Given the description of an element on the screen output the (x, y) to click on. 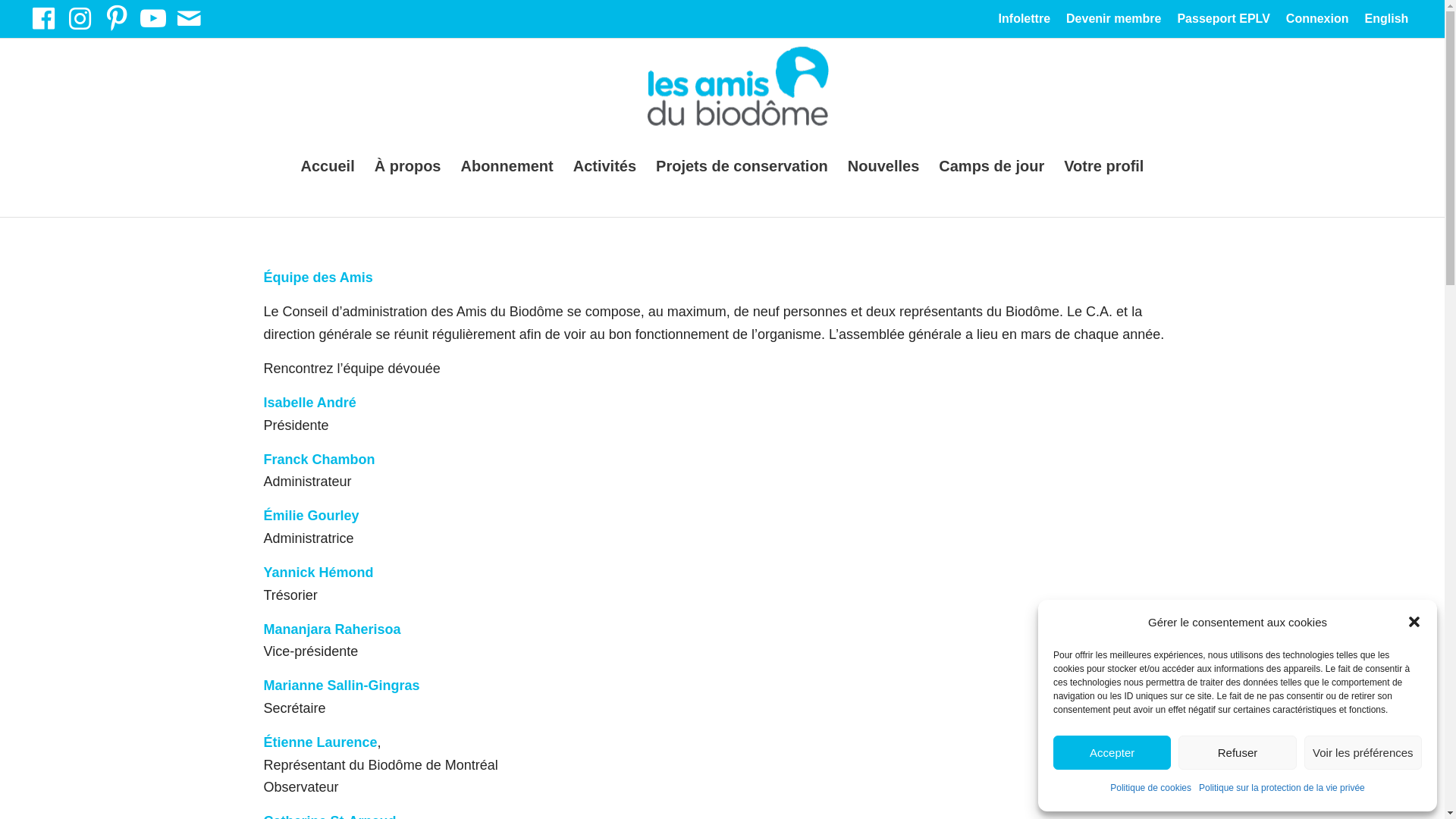
Camps de jour Element type: text (991, 165)
Accueil Element type: text (327, 165)
English Element type: text (1386, 21)
Abonnement Element type: text (506, 165)
Politique de cookies Element type: text (1150, 788)
Pinterest Element type: hover (116, 17)
Passeport EPLV Element type: text (1222, 21)
Mail Element type: hover (189, 17)
Votre profil Element type: text (1103, 165)
Devenir membre Element type: text (1113, 21)
Accepter Element type: text (1111, 752)
Projets de conservation Element type: text (741, 165)
Youtube1 Element type: hover (152, 17)
Infolettre Element type: text (1024, 21)
Nouvelles Element type: text (882, 165)
Refuser Element type: text (1236, 752)
amis-biodome-logo-color Element type: hover (737, 91)
amis-biodome-logo-color Element type: hover (721, 127)
Facebook1 Element type: hover (43, 17)
Instagram Element type: hover (79, 17)
Connexion Element type: text (1317, 21)
